Given the description of an element on the screen output the (x, y) to click on. 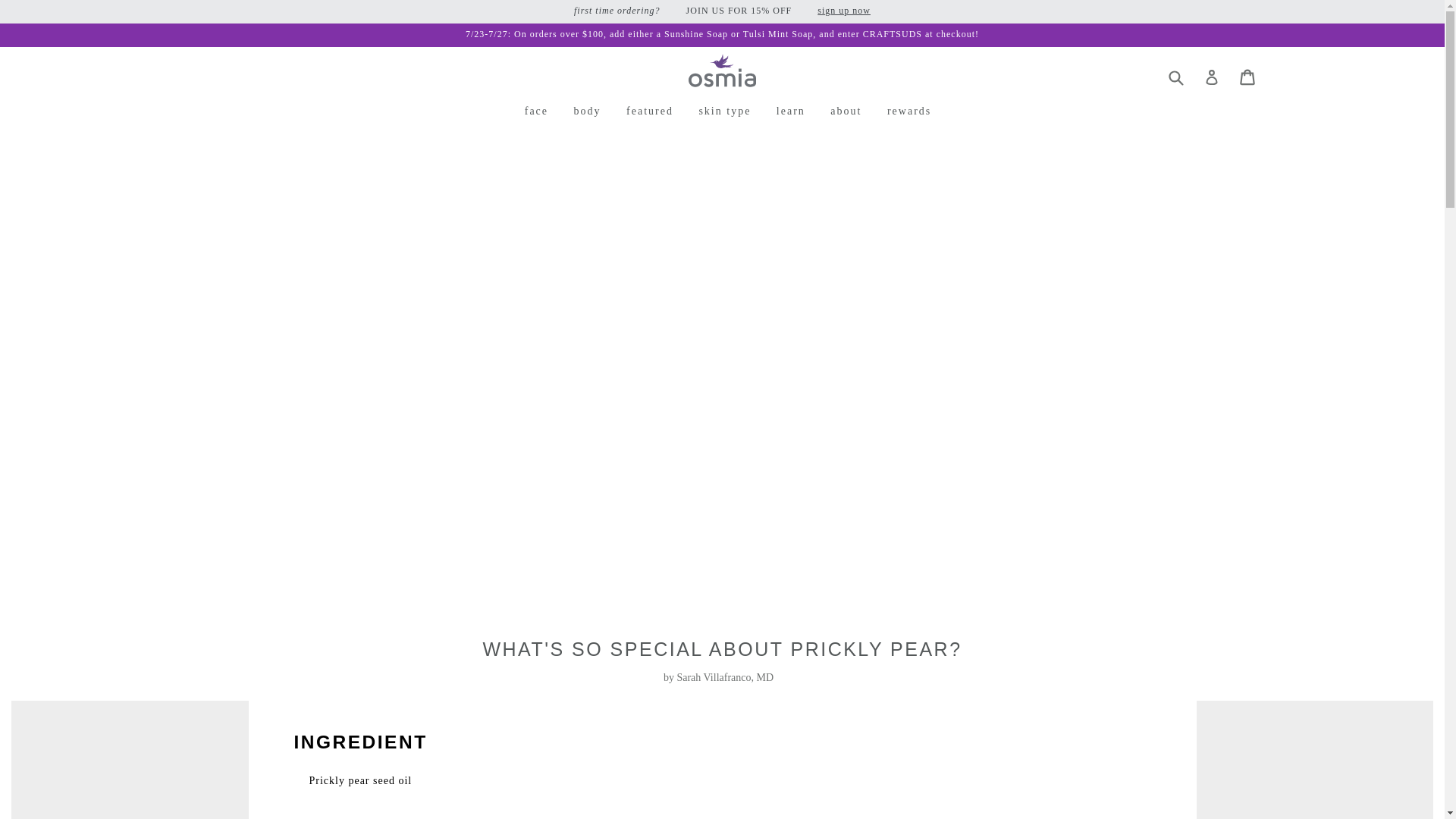
sign up now (843, 9)
